Given the description of an element on the screen output the (x, y) to click on. 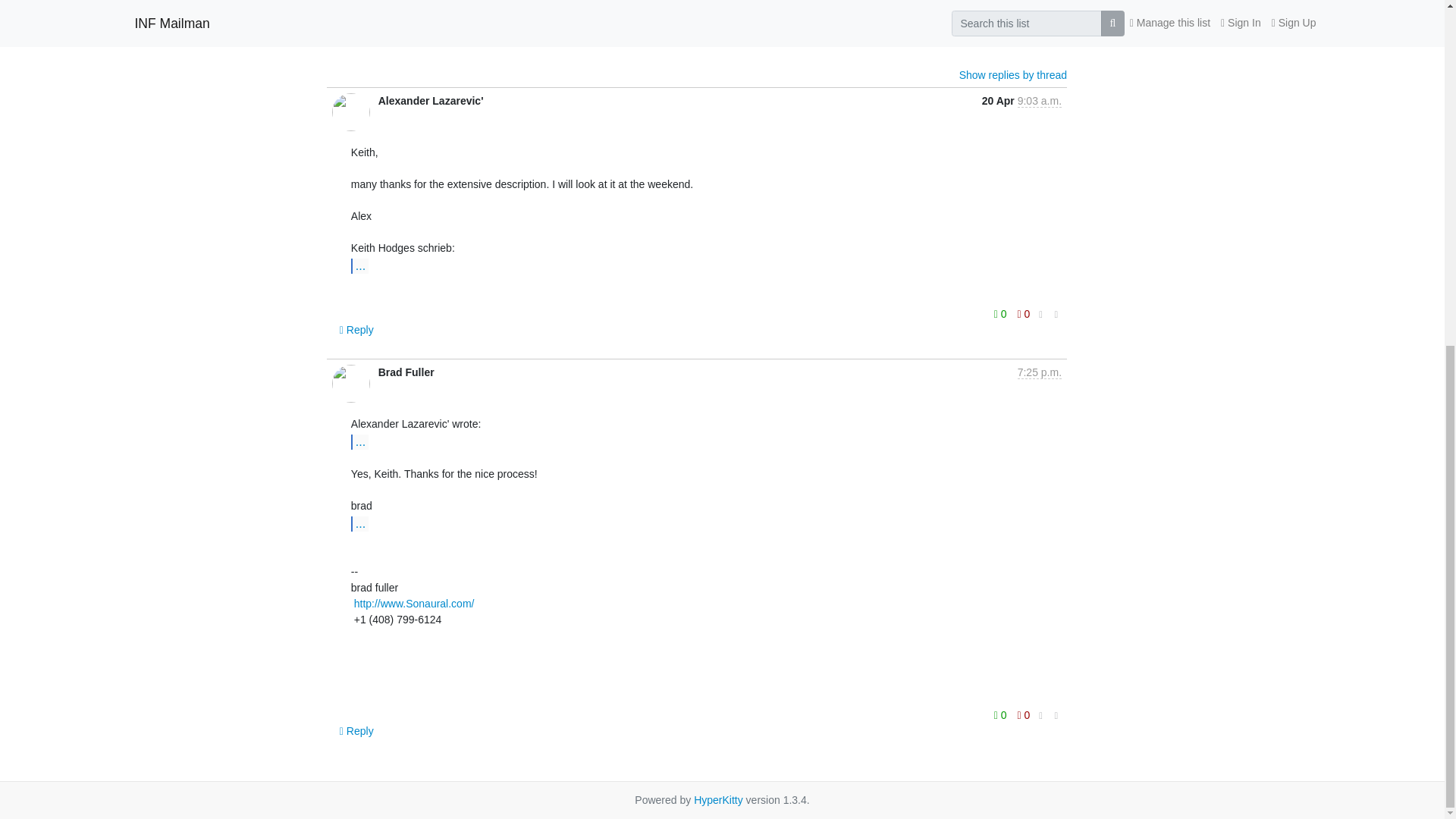
Sender's time: April 20, 2007, 9:03 a.m. (1039, 101)
You must be logged-in to vote. (1001, 313)
You must be logged-in to vote. (1007, 20)
Sender's time: April 20, 2007, 10:25 a.m. (1039, 372)
Sign in to reply online (356, 329)
Sign in to reply online (359, 35)
You must be logged-in to vote. (1023, 313)
You must be logged-in to vote. (1029, 20)
